Given the description of an element on the screen output the (x, y) to click on. 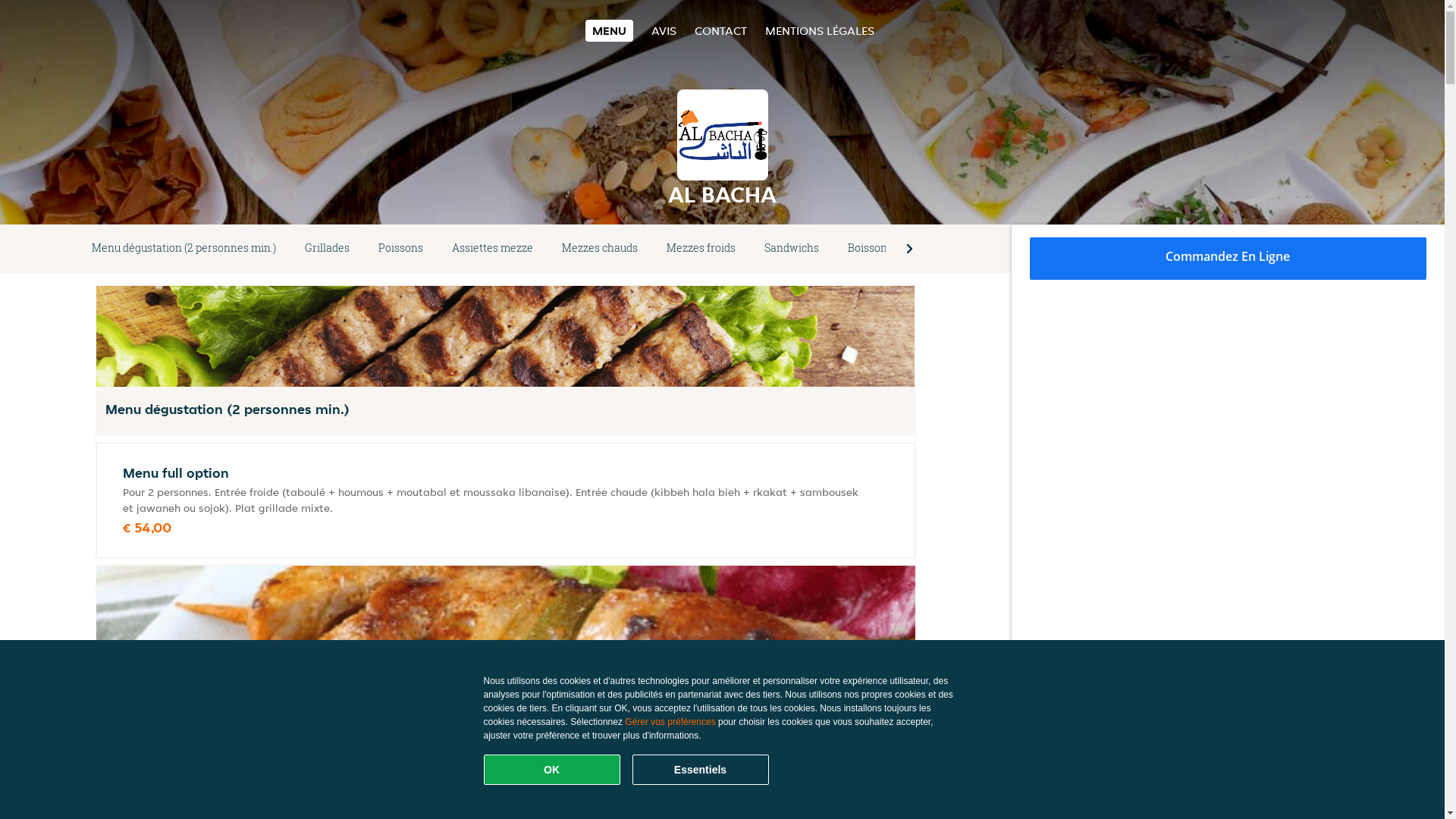
Grillades Element type: text (327, 248)
Sandwichs Element type: text (791, 248)
CONTACT Element type: text (720, 30)
OK Element type: text (551, 769)
Essentiels Element type: text (700, 769)
Mezzes froids Element type: text (700, 248)
Assiettes mezze Element type: text (492, 248)
MENU Element type: text (609, 30)
Boissons Element type: text (869, 248)
Poissons Element type: text (400, 248)
AVIS Element type: text (663, 30)
Mezzes chauds Element type: text (599, 248)
Commandez En Ligne Element type: text (1228, 258)
